Given the description of an element on the screen output the (x, y) to click on. 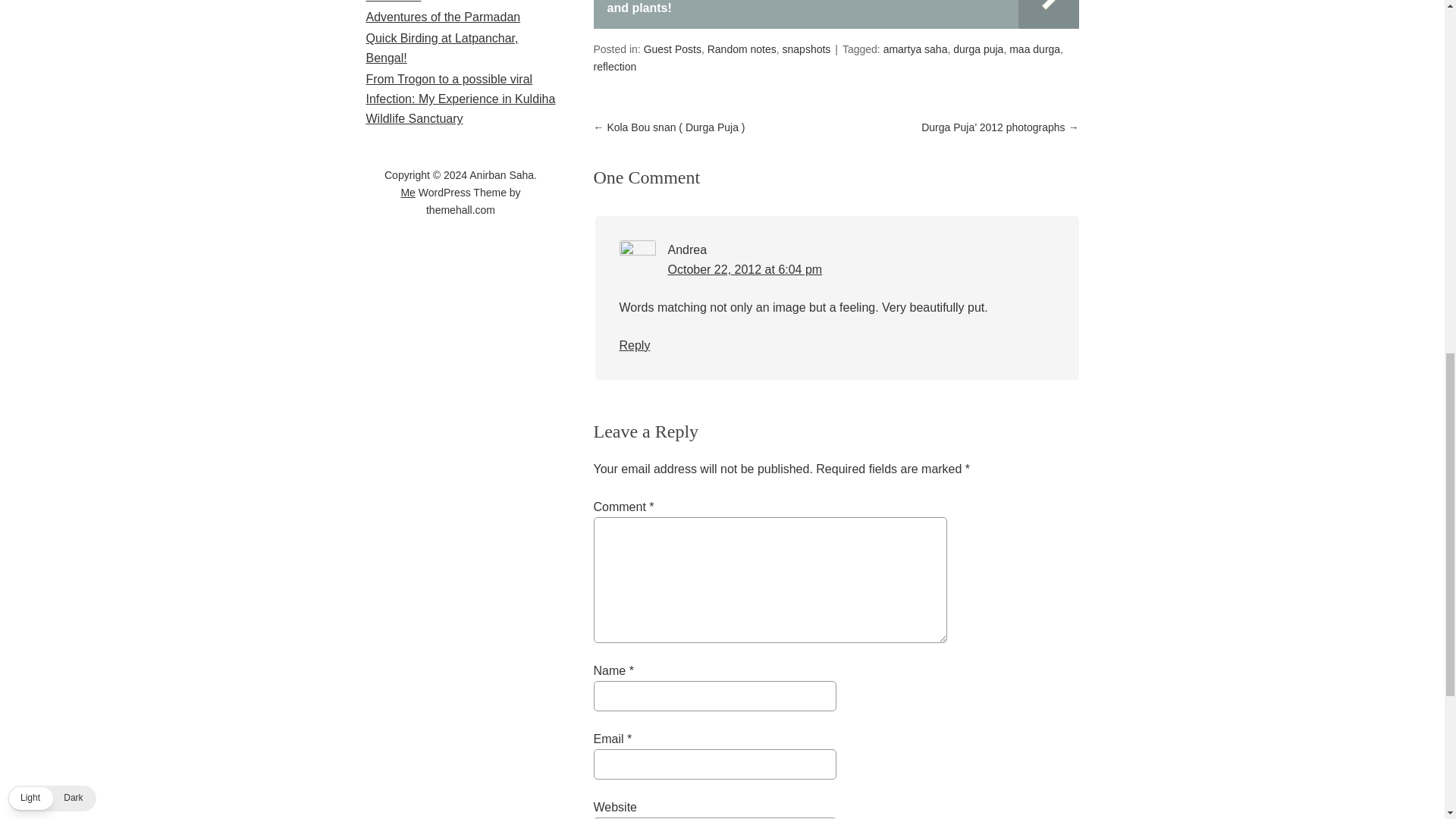
Reply (633, 345)
Adventures of the Parmadan (442, 16)
reflection (614, 66)
amartya saha (915, 49)
Monday, October 22, 2012, 6:04 pm (744, 269)
October 22, 2012 at 6:04 pm (744, 269)
maa durga (1034, 49)
Me WordPress Theme (407, 192)
Flamingos in Mumbai: A Thrilling Encounter (452, 1)
snapshots (807, 49)
durga puja (978, 49)
Guest Posts (672, 49)
Random notes (741, 49)
